Given the description of an element on the screen output the (x, y) to click on. 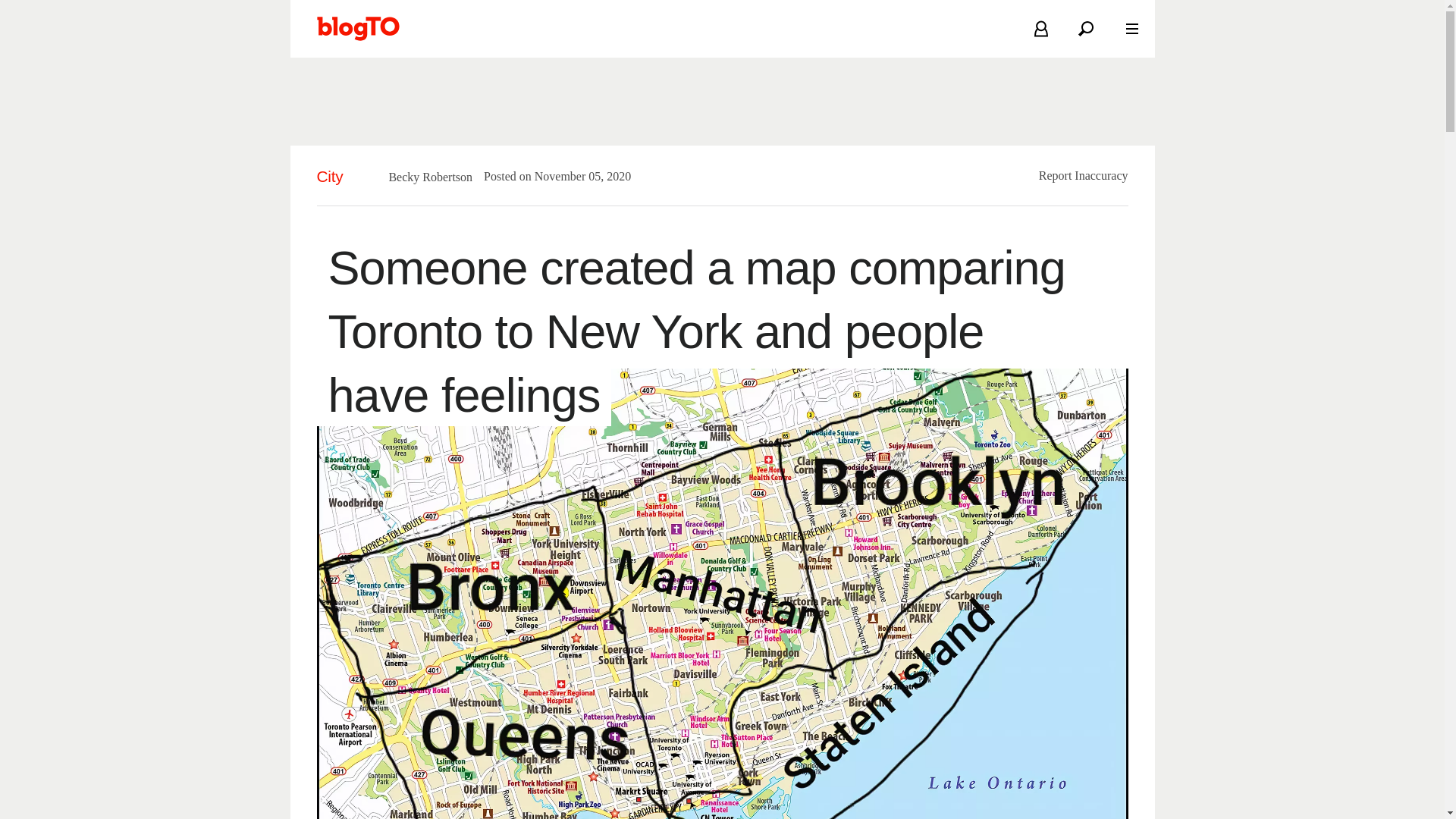
2020-11-05T14:44:57 (575, 175)
